Given the description of an element on the screen output the (x, y) to click on. 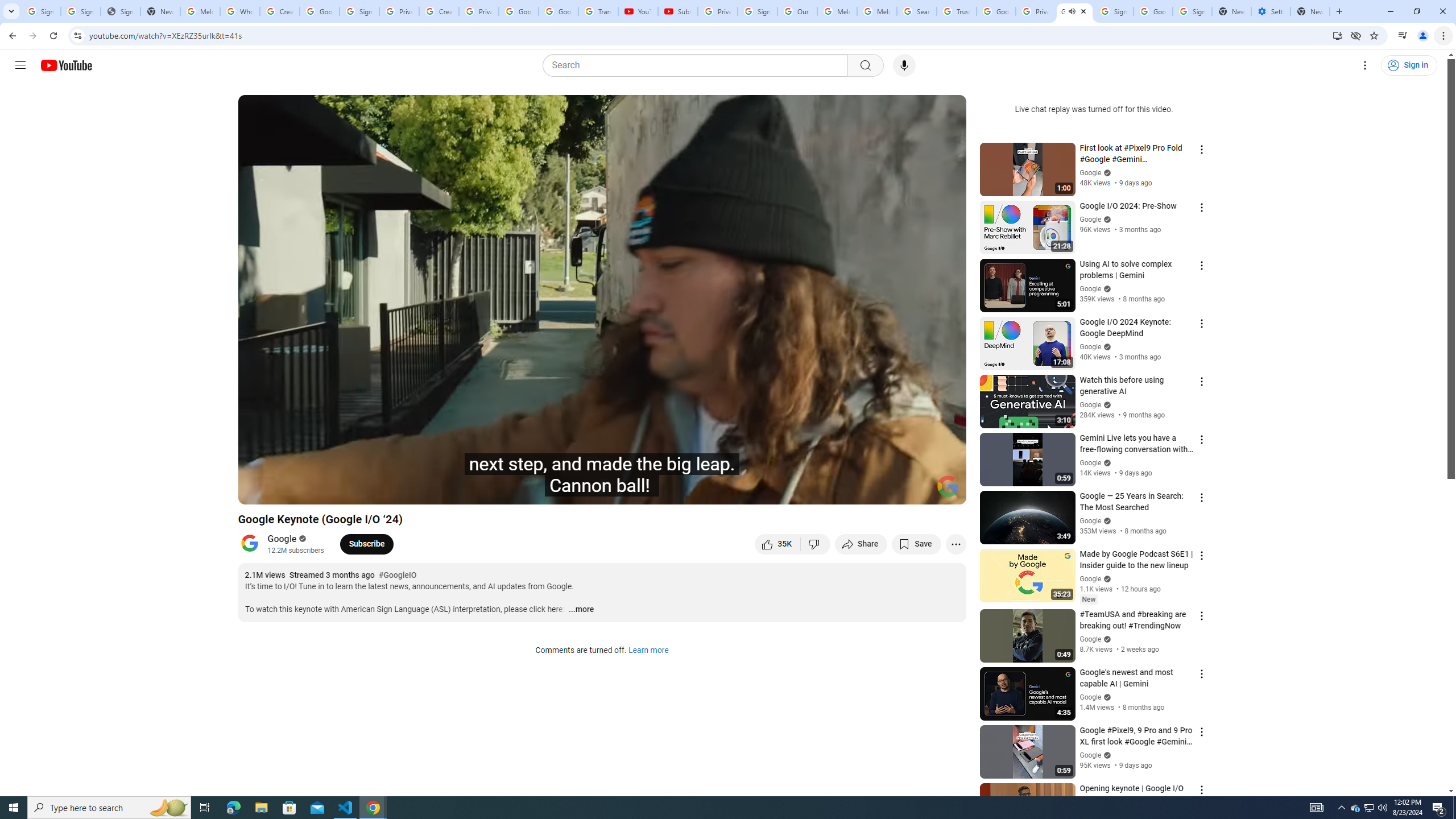
Share (861, 543)
like this video along with 35,367 other people (777, 543)
YouTube Home (66, 65)
Channel watermark (947, 486)
Opening Film (408, 490)
Verified (1106, 755)
Next (SHIFT+n) (284, 490)
